Given the description of an element on the screen output the (x, y) to click on. 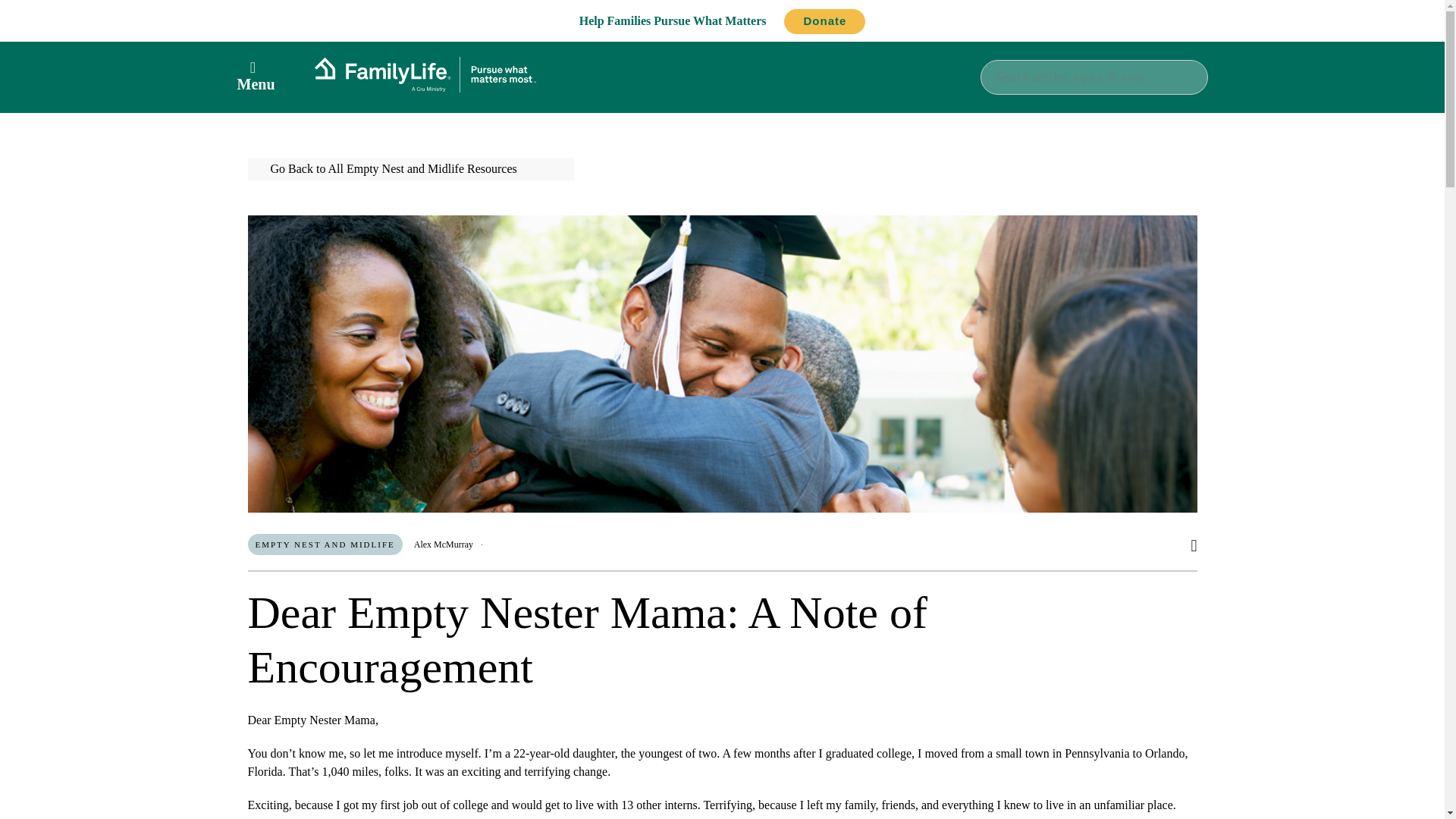
EMPTY NEST AND MIDLIFE (324, 544)
Help Families Pursue What Matters Donate (722, 20)
Donate (824, 21)
Search for: (1093, 76)
Go Back to All Empty Nest and Midlife Resources (410, 169)
